Given the description of an element on the screen output the (x, y) to click on. 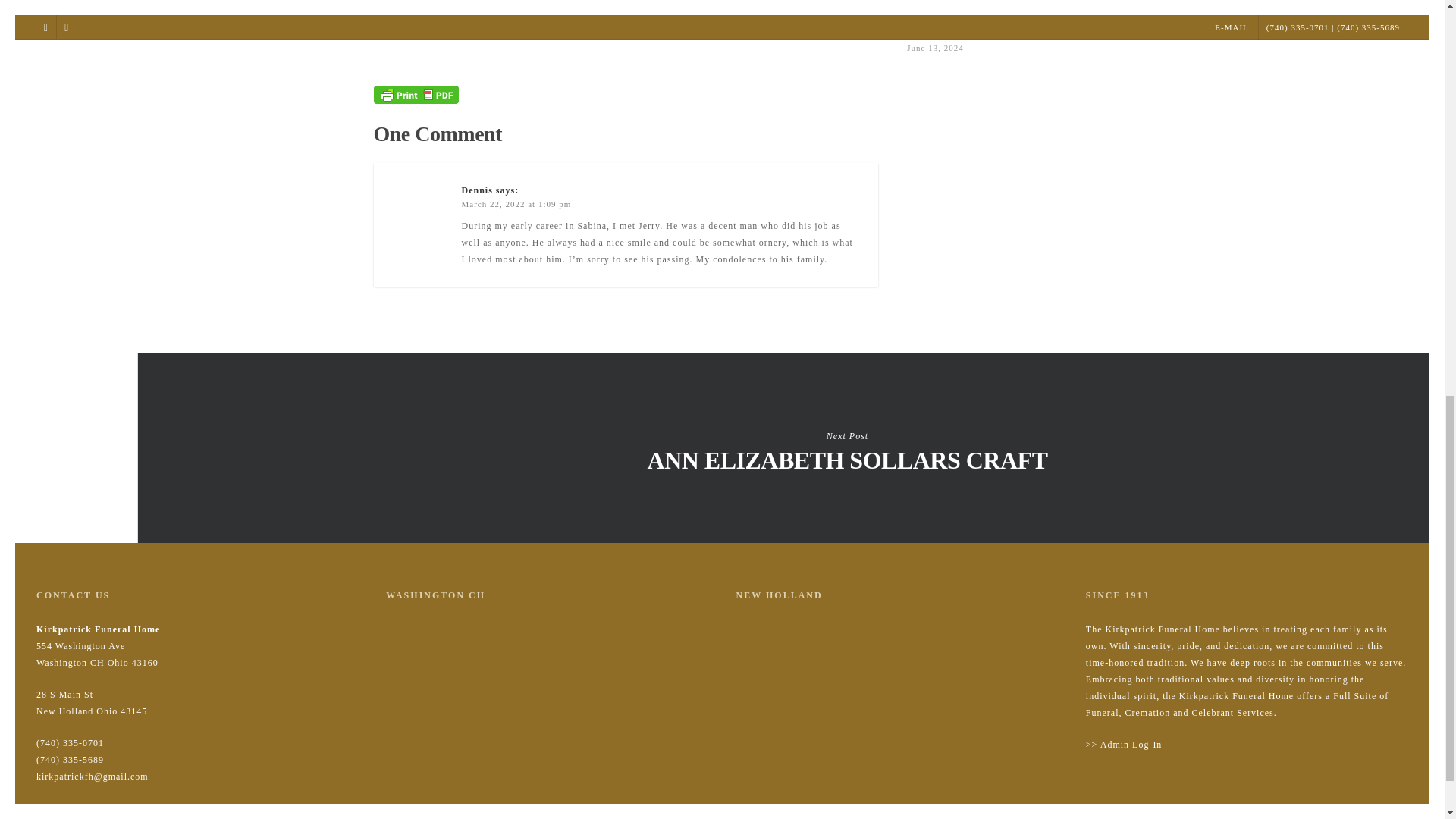
March 22, 2022 at 1:09 pm (515, 203)
